Given the description of an element on the screen output the (x, y) to click on. 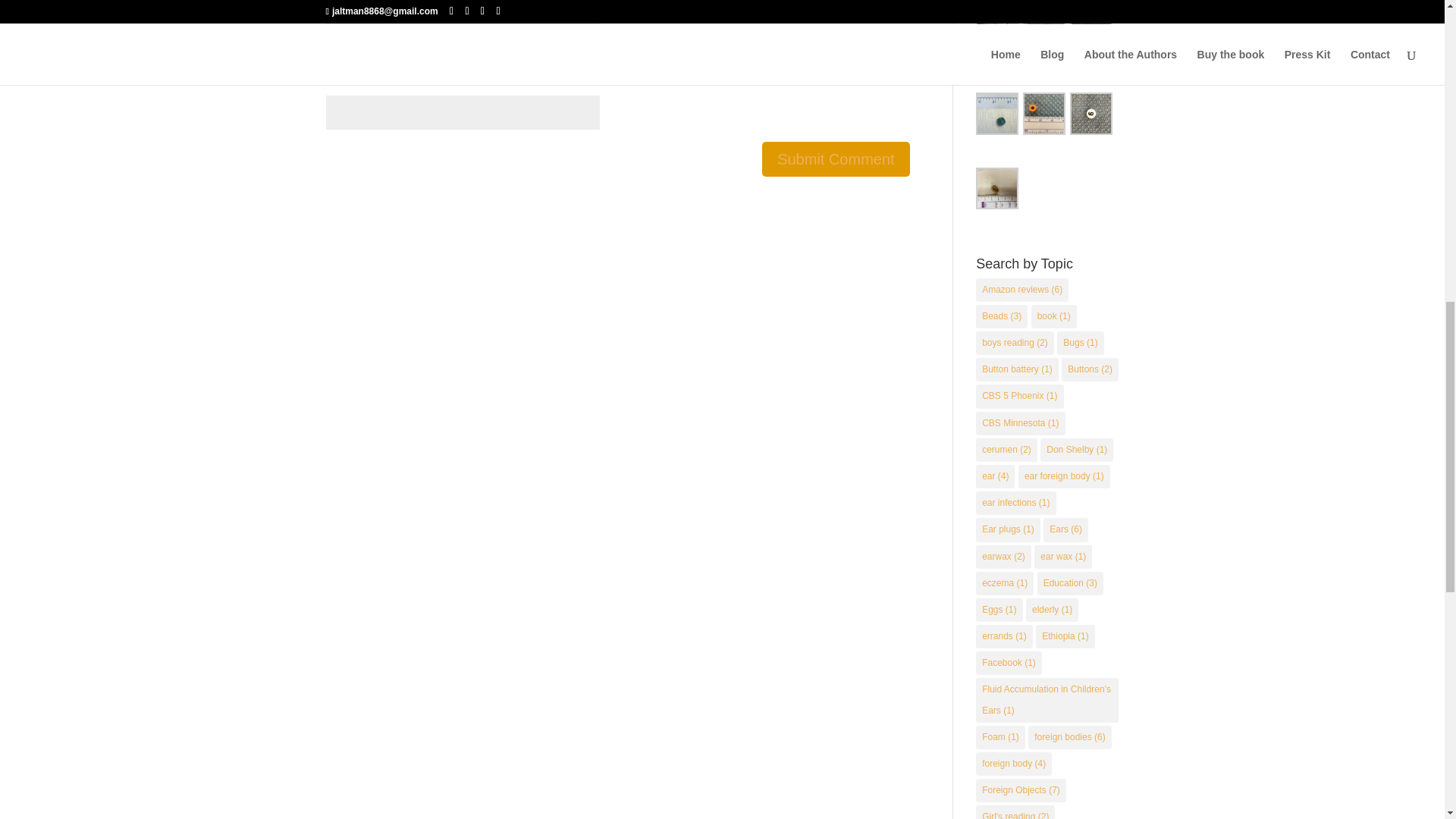
Submit Comment (835, 158)
Submit Comment (835, 158)
